Given the description of an element on the screen output the (x, y) to click on. 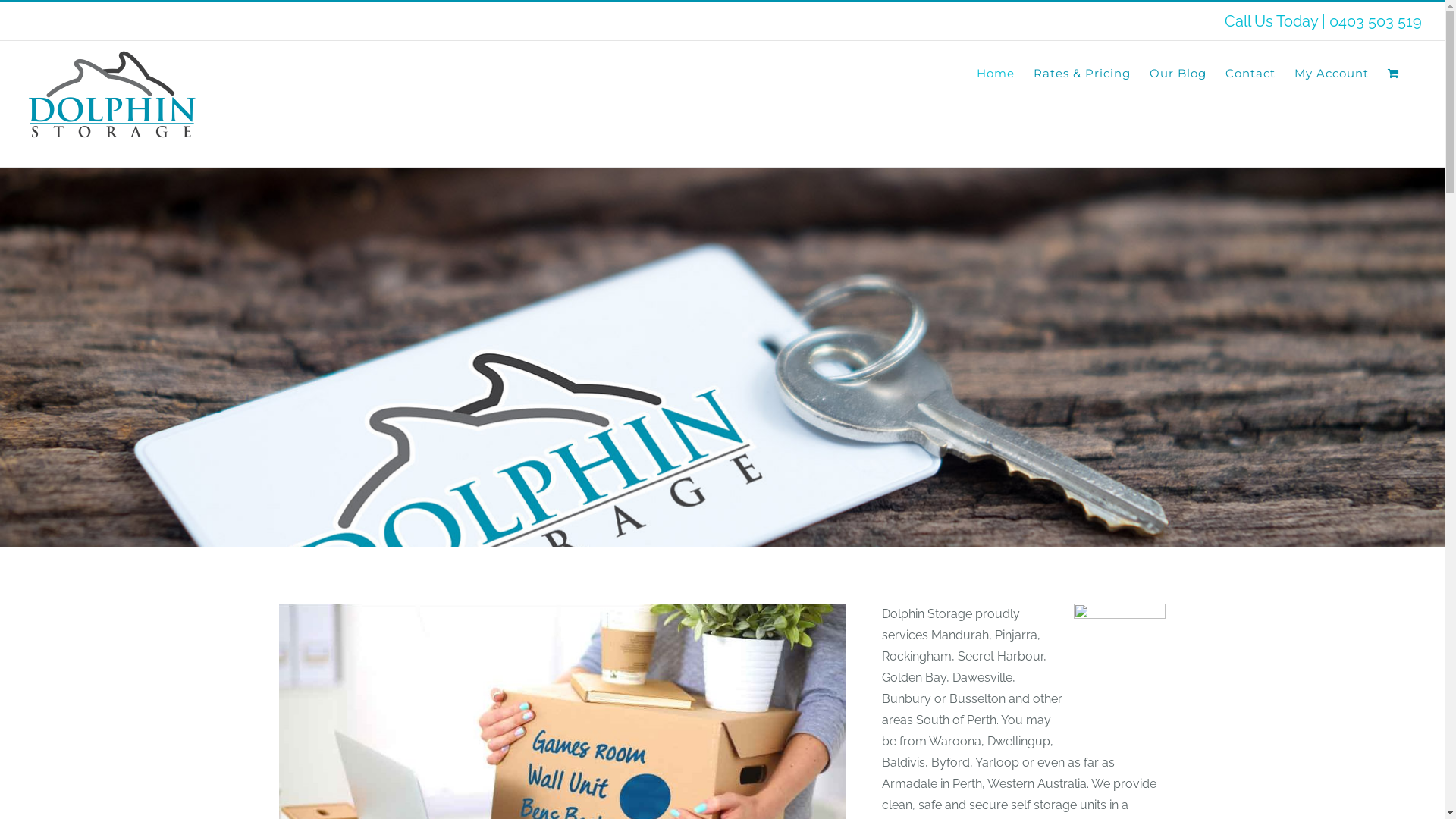
Our Blog Element type: text (1177, 72)
Rates & Pricing Element type: text (1081, 72)
Contact Element type: text (1250, 72)
My Account Element type: text (1331, 72)
Home Element type: text (995, 72)
